Given the description of an element on the screen output the (x, y) to click on. 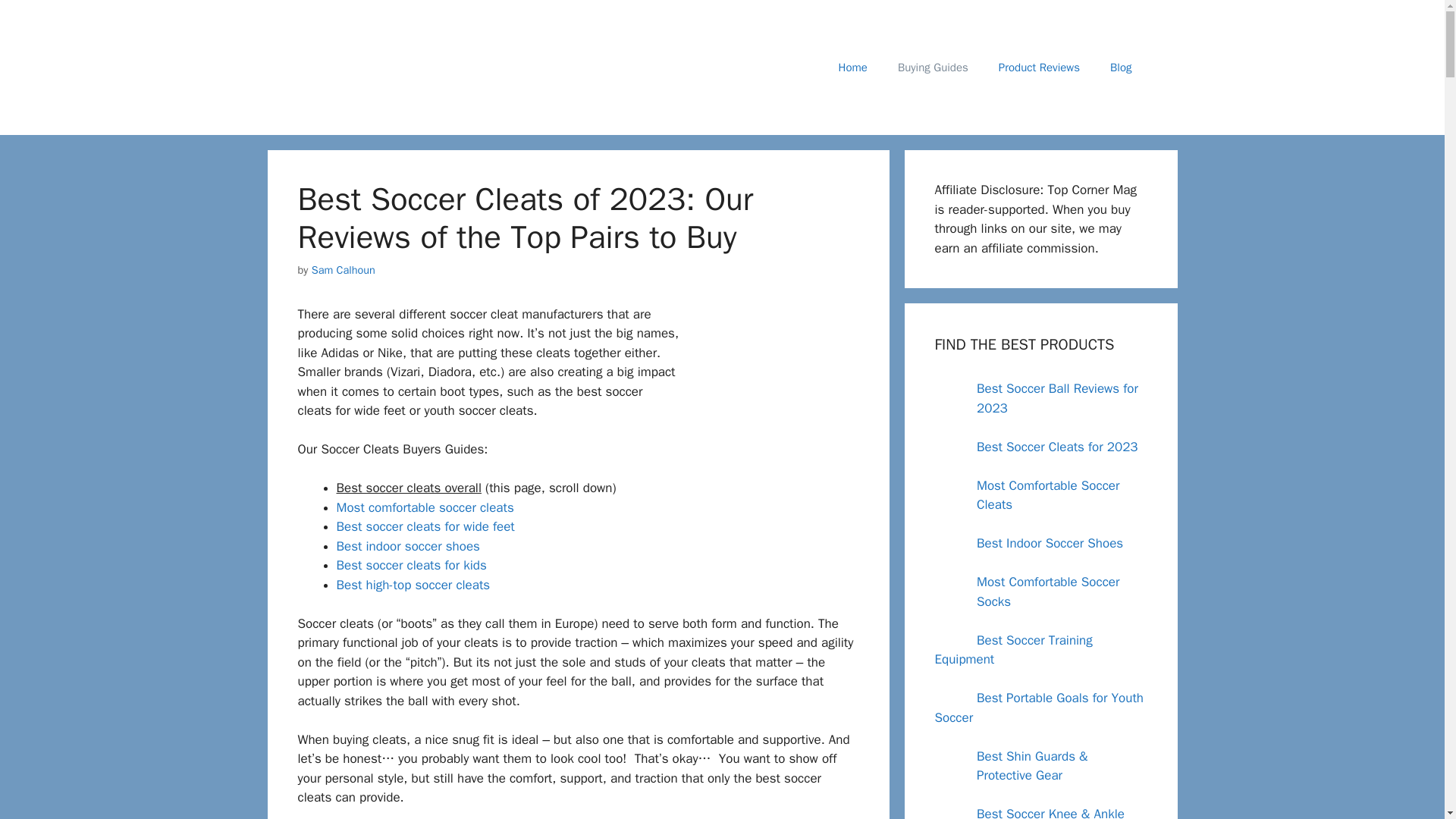
Product Reviews (1039, 67)
Best high-top soccer cleats (413, 584)
Most comfortable soccer cleats (424, 507)
Buying Guides (933, 67)
Best indoor soccer shoes (408, 546)
Best soccer cleats for wide feet (425, 526)
View all posts by Sam Calhoun (343, 269)
Home (853, 67)
Best soccer cleats for kids (411, 565)
Sam Calhoun (343, 269)
